Given the description of an element on the screen output the (x, y) to click on. 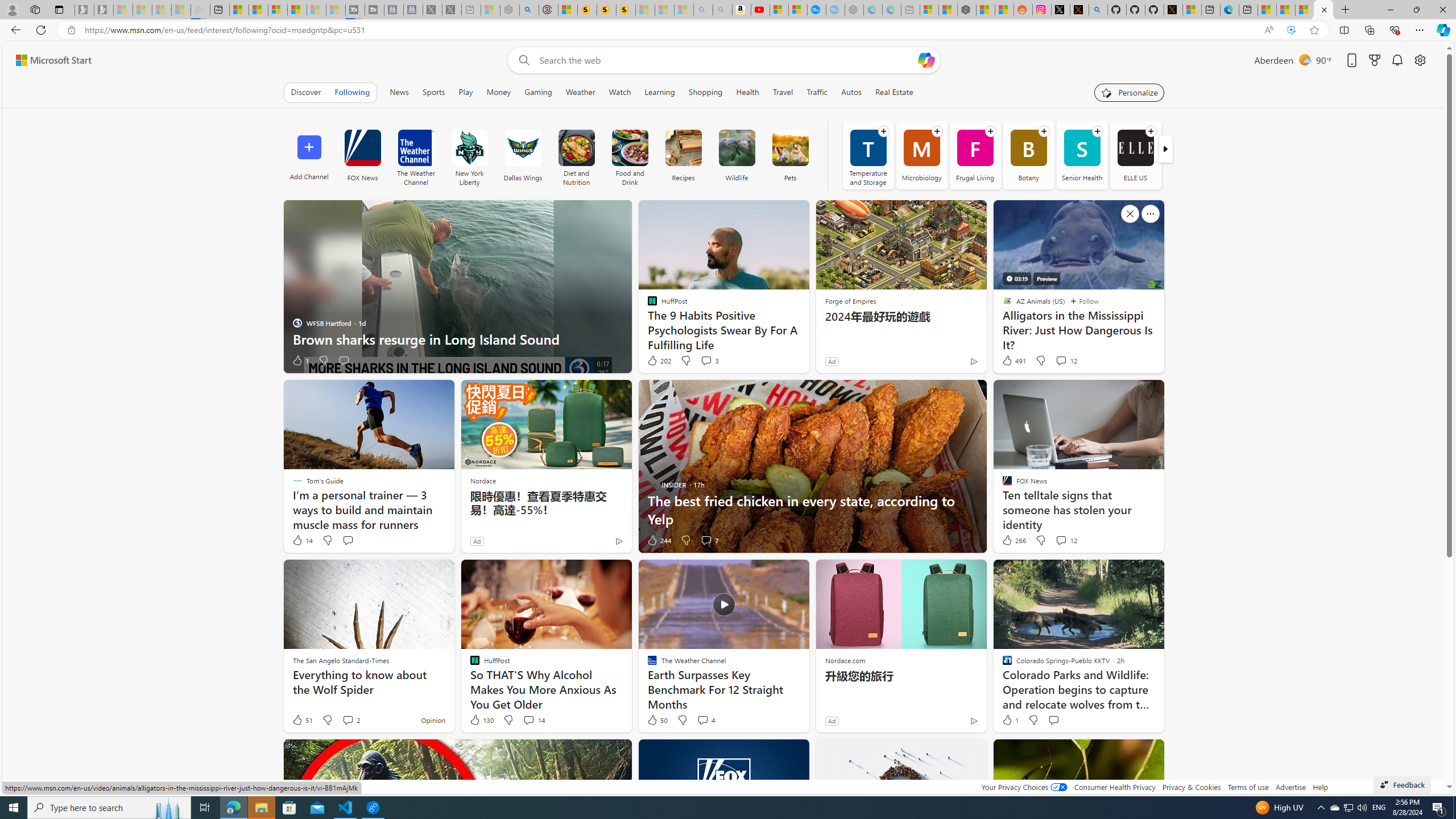
Food and Drink (629, 155)
Microbiology (921, 155)
SB Nation (1188, 155)
1 Like (1009, 719)
